Given the description of an element on the screen output the (x, y) to click on. 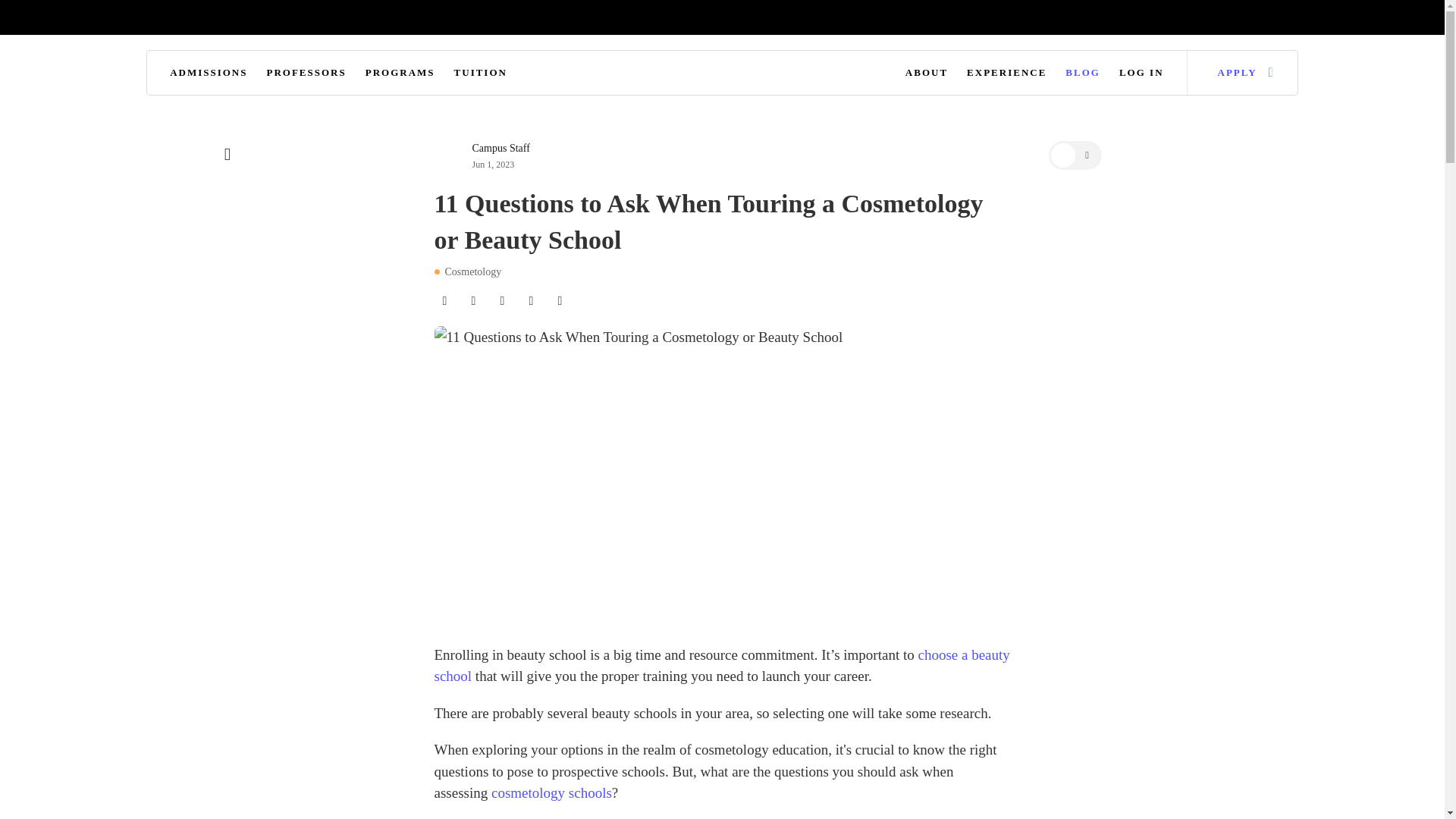
PROFESSORS (306, 72)
Campus (722, 75)
choose a beauty school (721, 665)
APPLY (1230, 72)
ABOUT (926, 72)
ADMISSIONS (208, 72)
TUITION (480, 72)
EXPERIENCE (1006, 72)
cosmetology schools (551, 792)
PROGRAMS (400, 72)
